Given the description of an element on the screen output the (x, y) to click on. 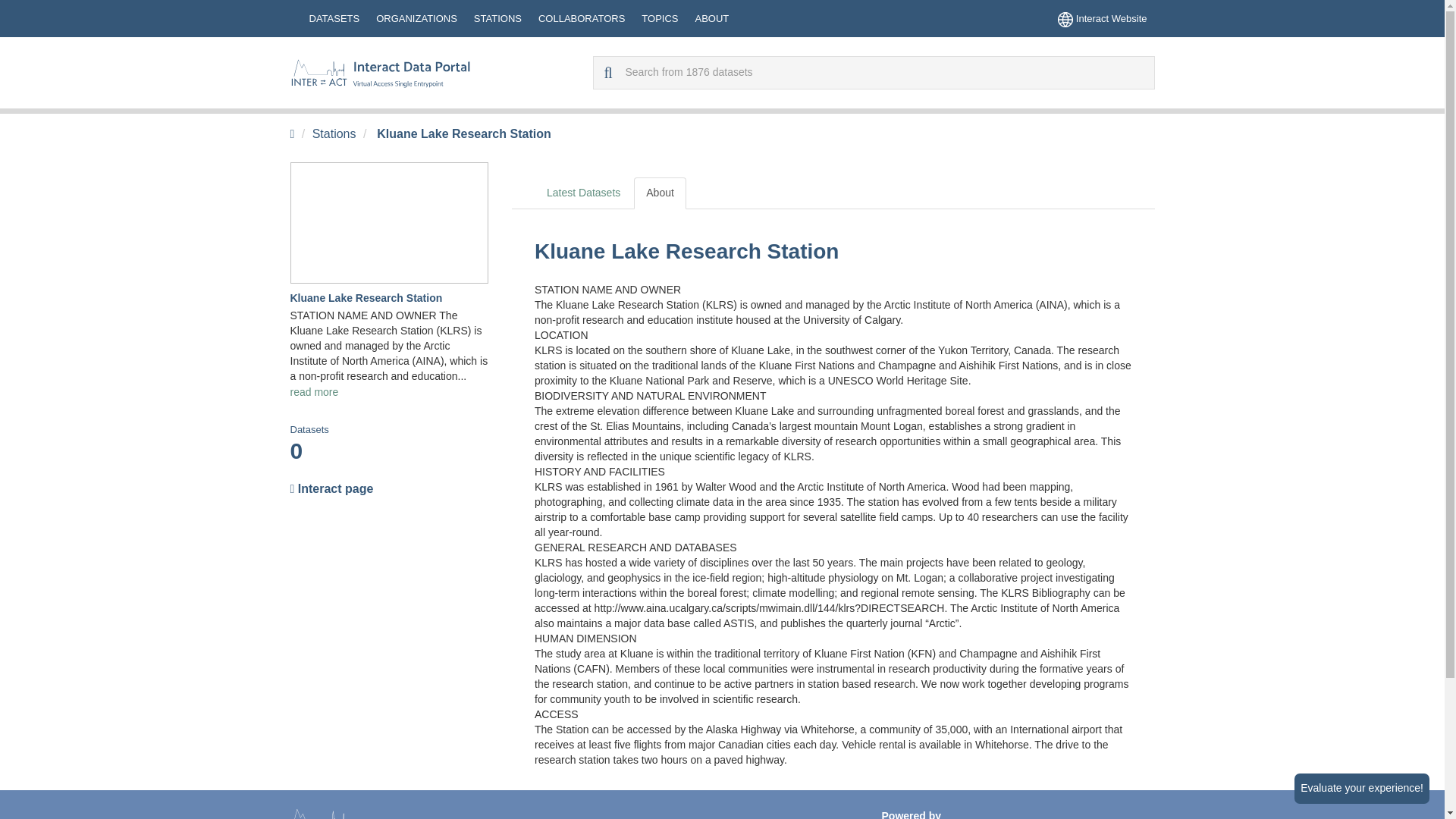
STATIONS (497, 18)
COLLABORATORS (581, 18)
Interact Data Portal (379, 72)
Interact Website (1101, 18)
ORGANIZATIONS (416, 18)
ABOUT (711, 18)
Interact page (388, 488)
Evaluate your experience! (1361, 788)
Stations (334, 133)
read more (313, 391)
